Given the description of an element on the screen output the (x, y) to click on. 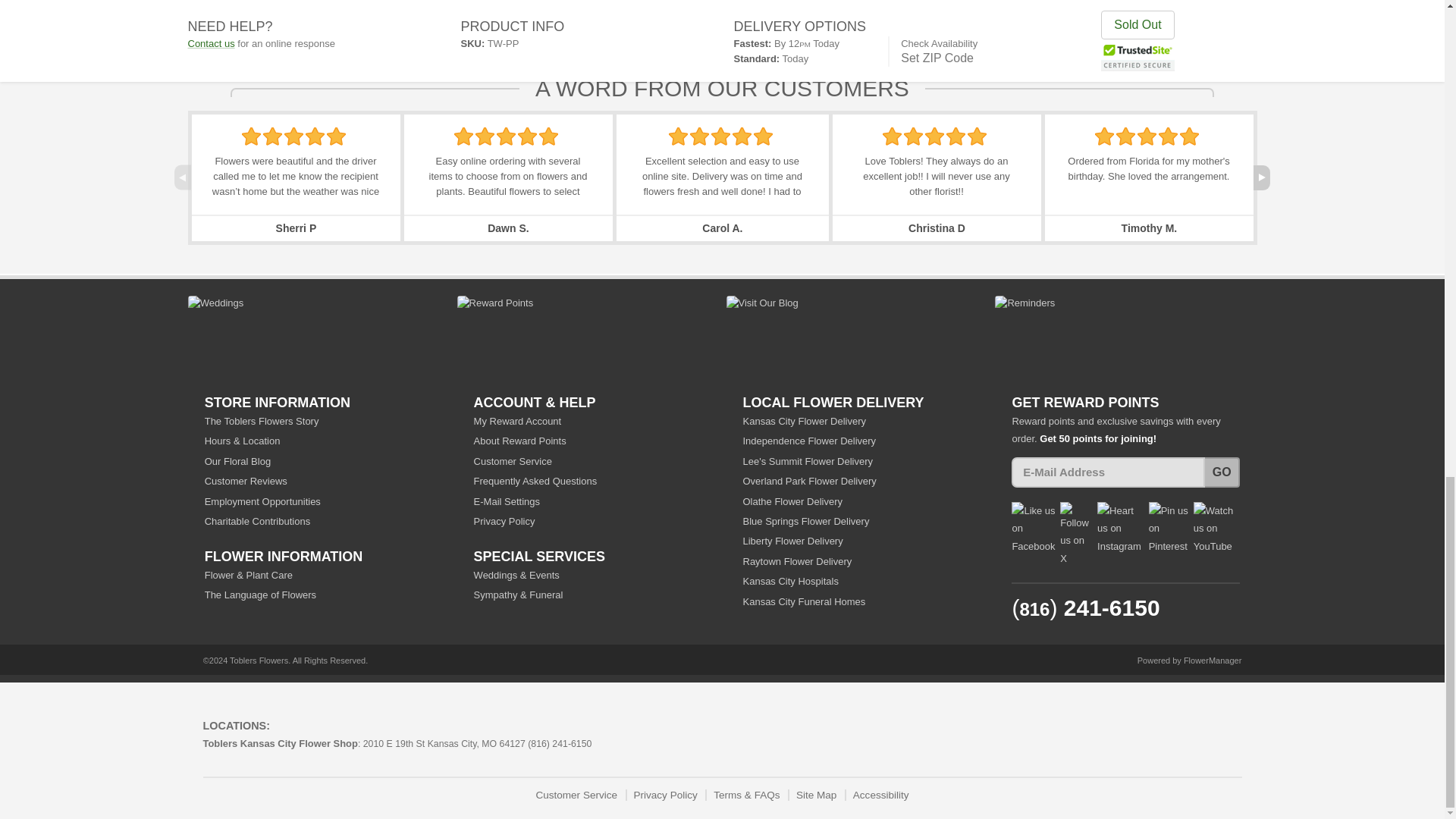
Full Star (677, 136)
Full Star (463, 136)
Full Star (336, 136)
Full Star (250, 136)
Full Star (314, 136)
Full Star (547, 136)
Full Star (527, 136)
Full Star (292, 136)
Full Star (505, 136)
Full Star (272, 136)
Full Star (485, 136)
